Given the description of an element on the screen output the (x, y) to click on. 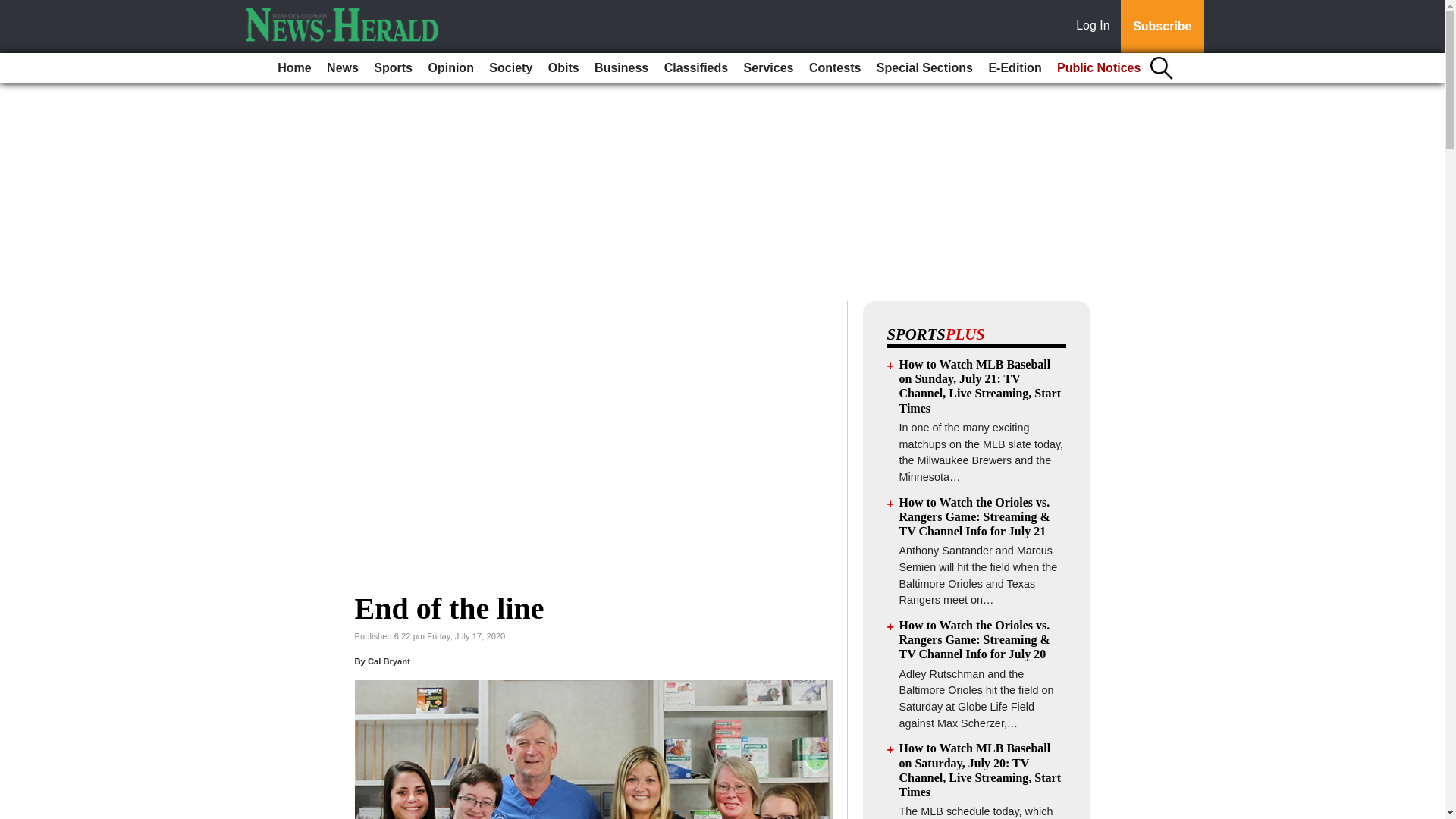
Log In (1095, 26)
News (342, 68)
Obits (563, 68)
Go (13, 9)
Home (293, 68)
Opinion (450, 68)
E-Edition (1013, 68)
Society (510, 68)
Contests (834, 68)
Services (768, 68)
Subscribe (1162, 26)
Cal Bryant (389, 660)
Classifieds (695, 68)
Public Notices (1099, 68)
Special Sections (924, 68)
